Given the description of an element on the screen output the (x, y) to click on. 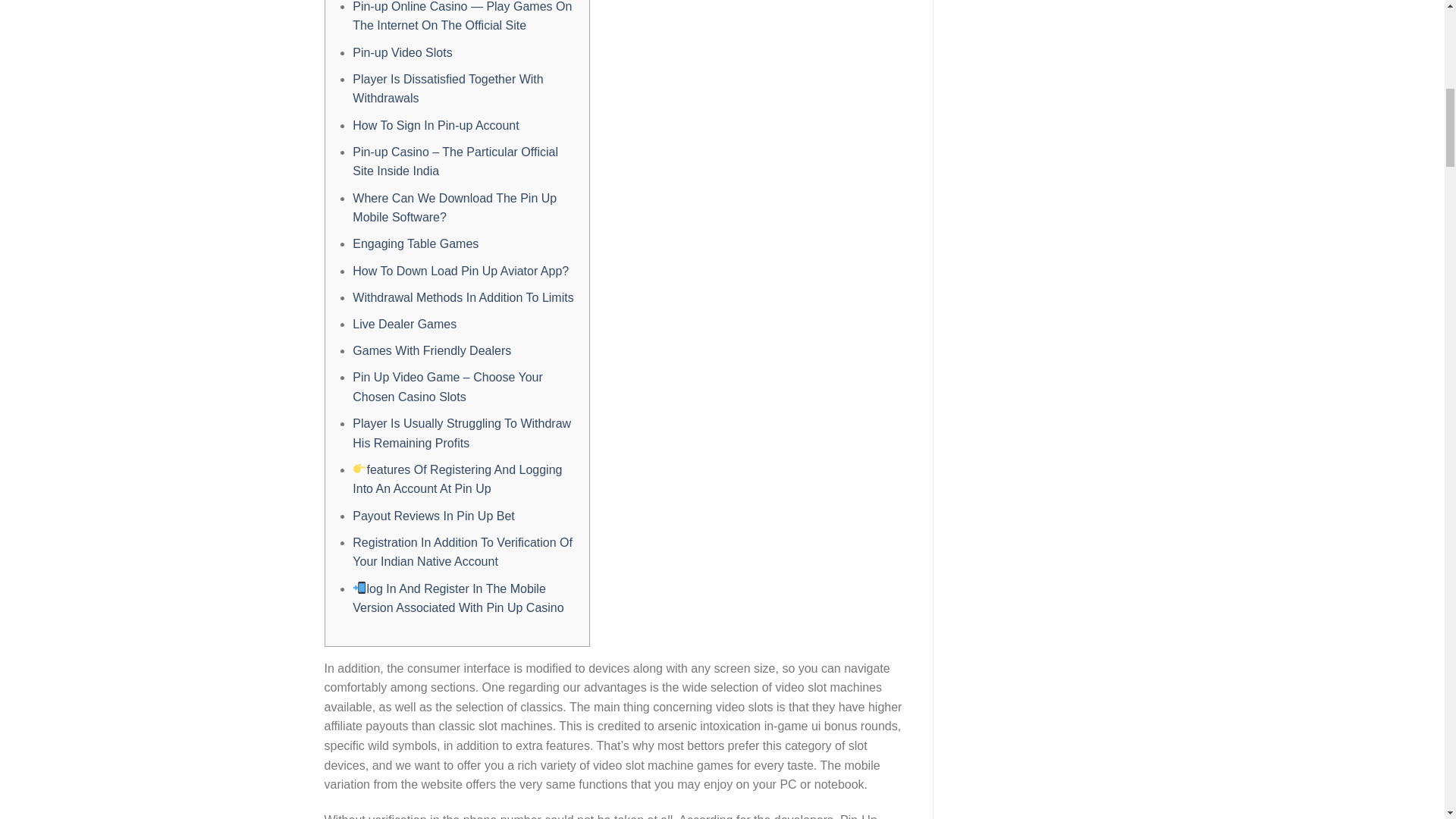
Engaging Table Games (415, 243)
How To Sign In Pin-up Account (435, 124)
Pin-up Video Slots (401, 51)
Player Is Dissatisfied Together With Withdrawals (447, 88)
Where Can We Download The Pin Up Mobile Software? (454, 207)
